Given the description of an element on the screen output the (x, y) to click on. 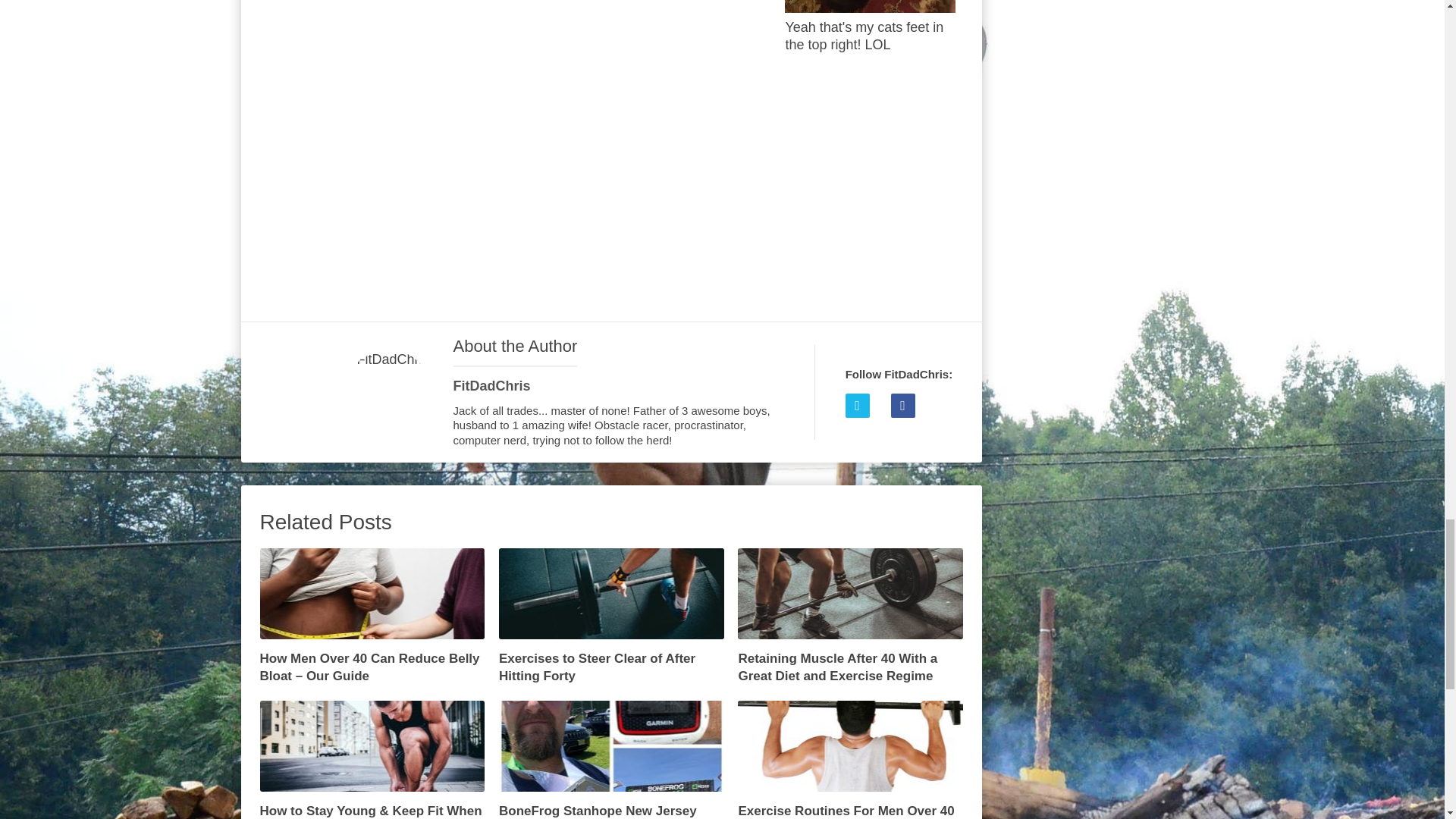
FitDadChris (491, 385)
